Given the description of an element on the screen output the (x, y) to click on. 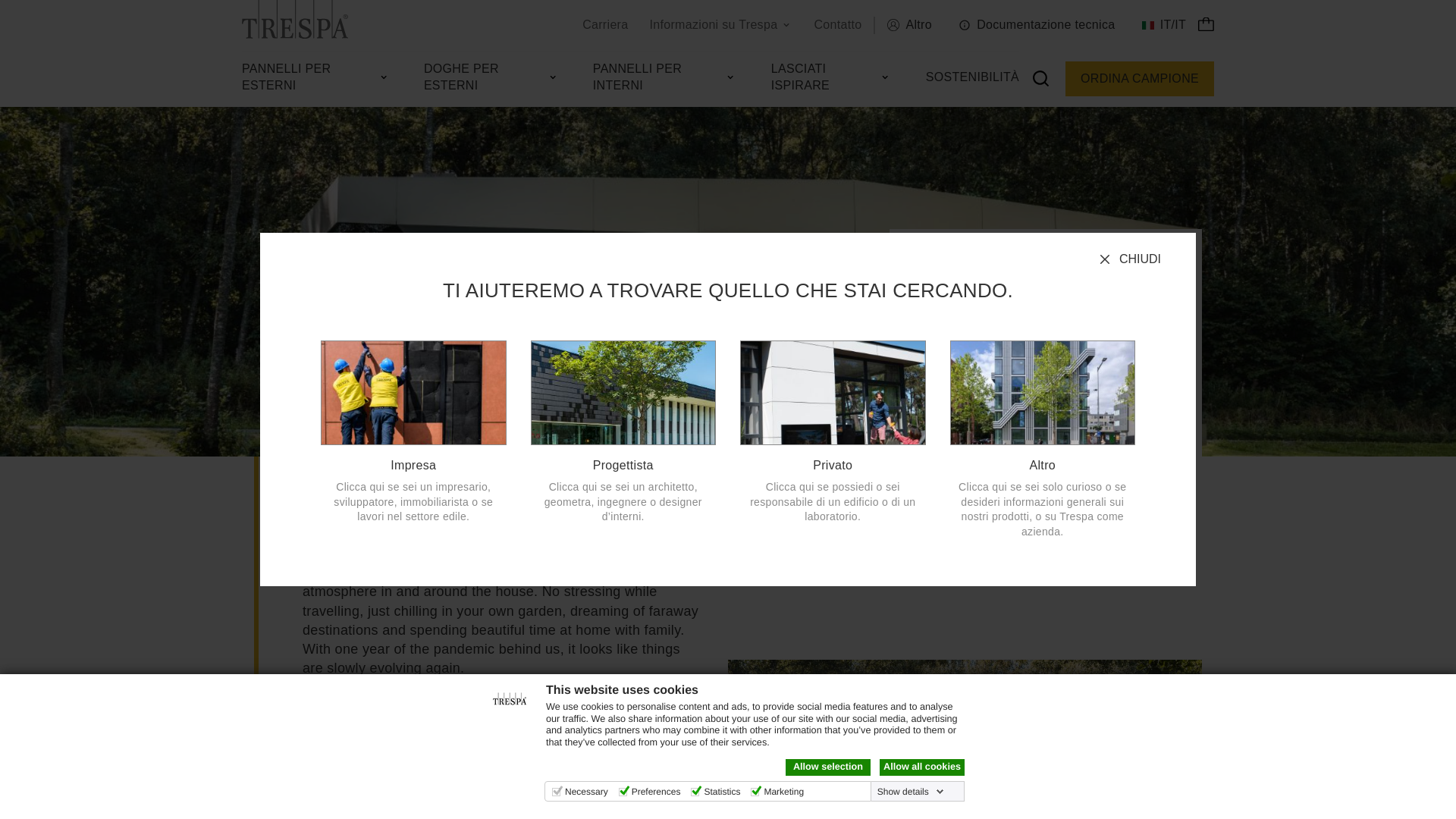
Allow selection (828, 767)
Show details (911, 791)
Allow all cookies (921, 767)
